Given the description of an element on the screen output the (x, y) to click on. 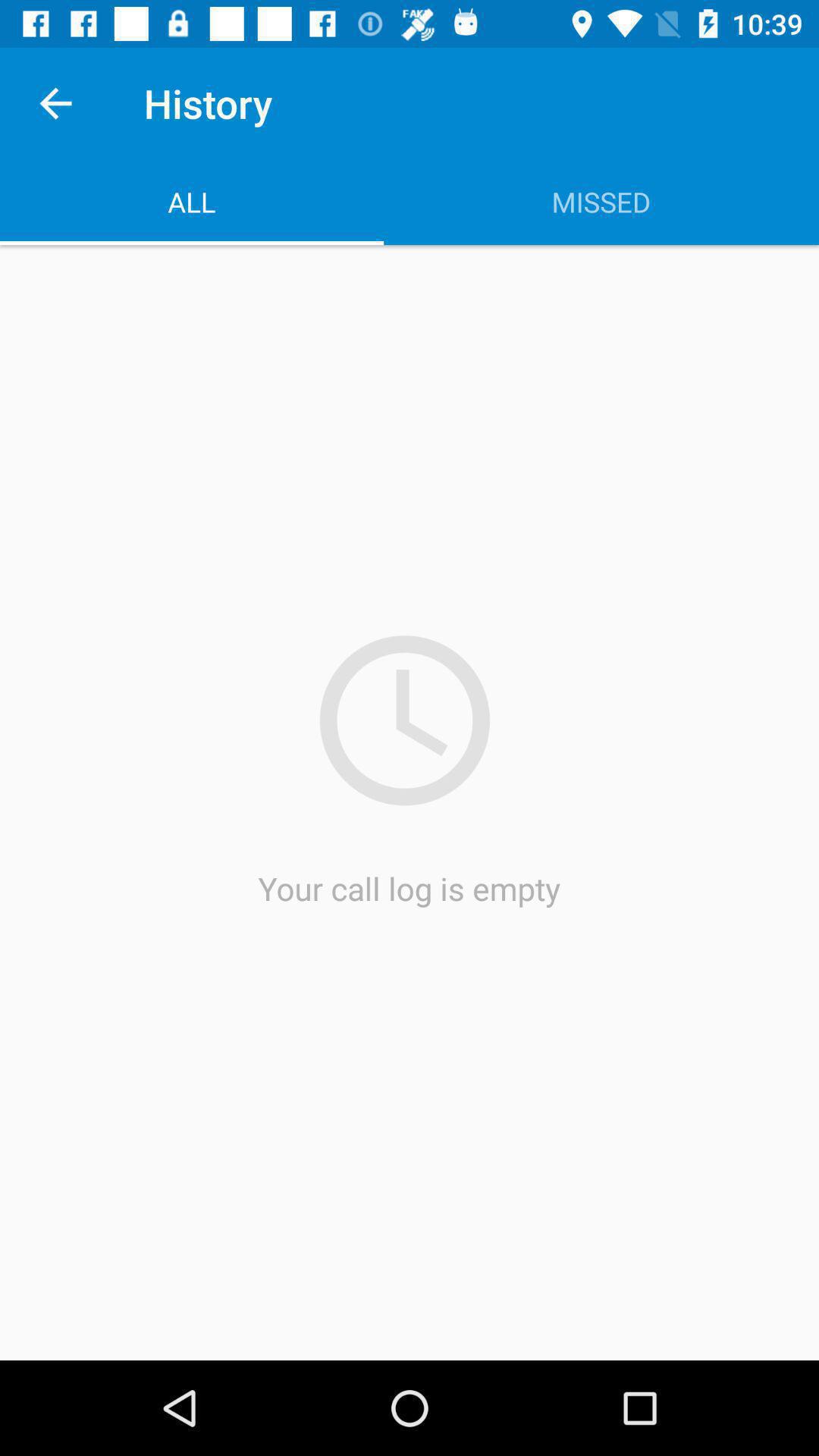
swipe until the all (191, 202)
